Given the description of an element on the screen output the (x, y) to click on. 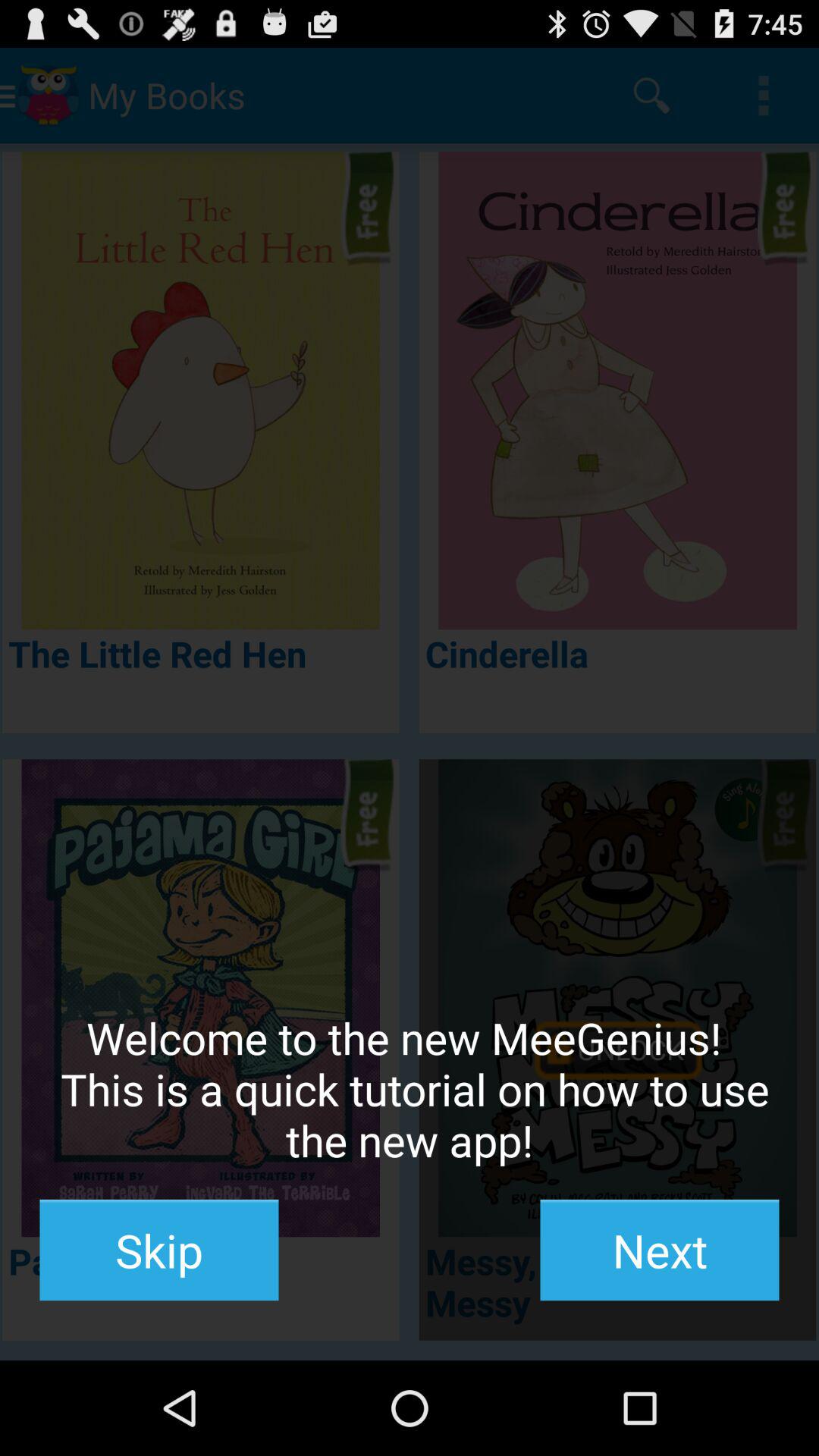
jump to skip item (158, 1249)
